Given the description of an element on the screen output the (x, y) to click on. 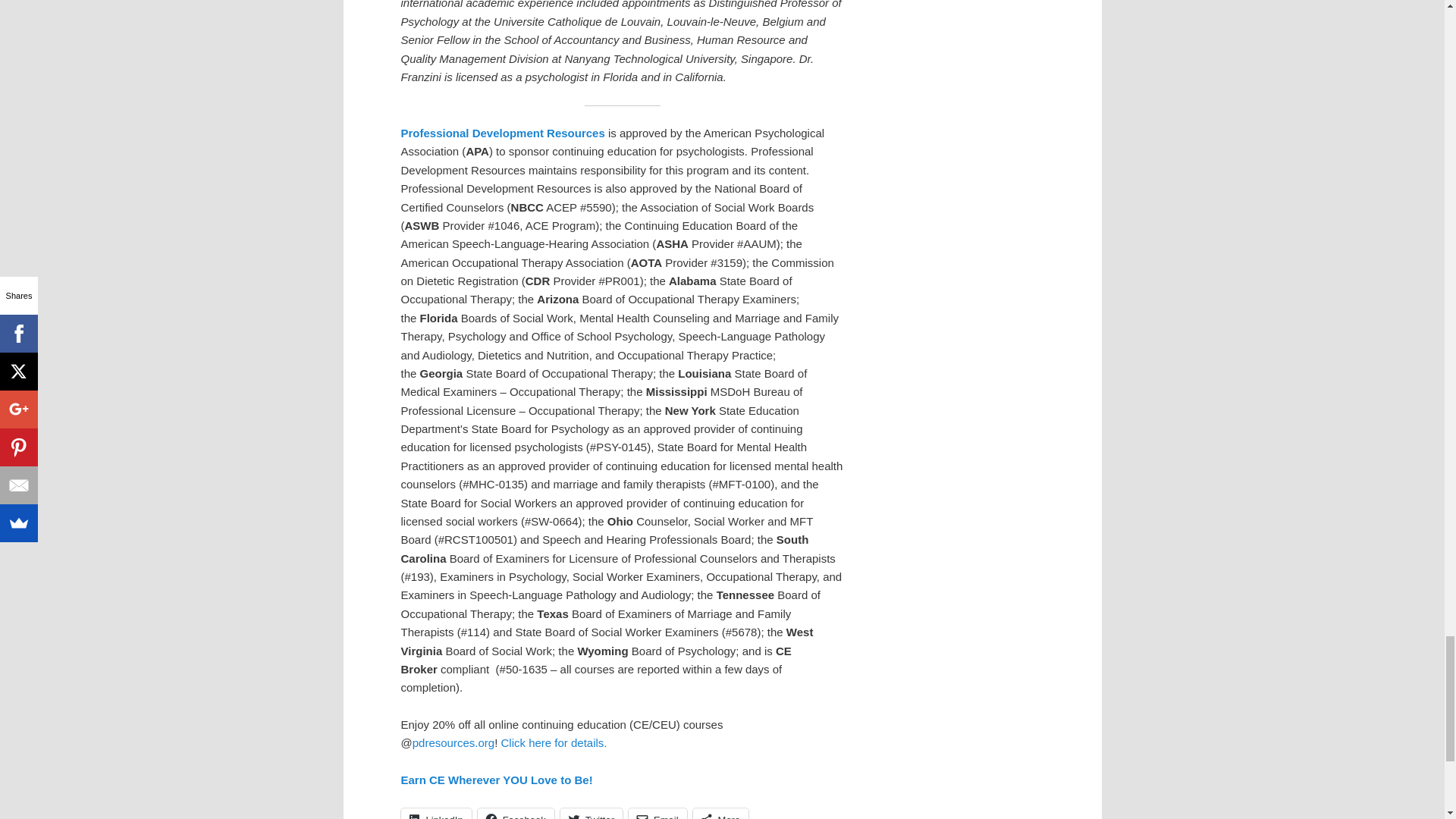
Click to share on Twitter (591, 813)
Click to share on Facebook (515, 813)
Click to share on LinkedIn (435, 813)
